Given the description of an element on the screen output the (x, y) to click on. 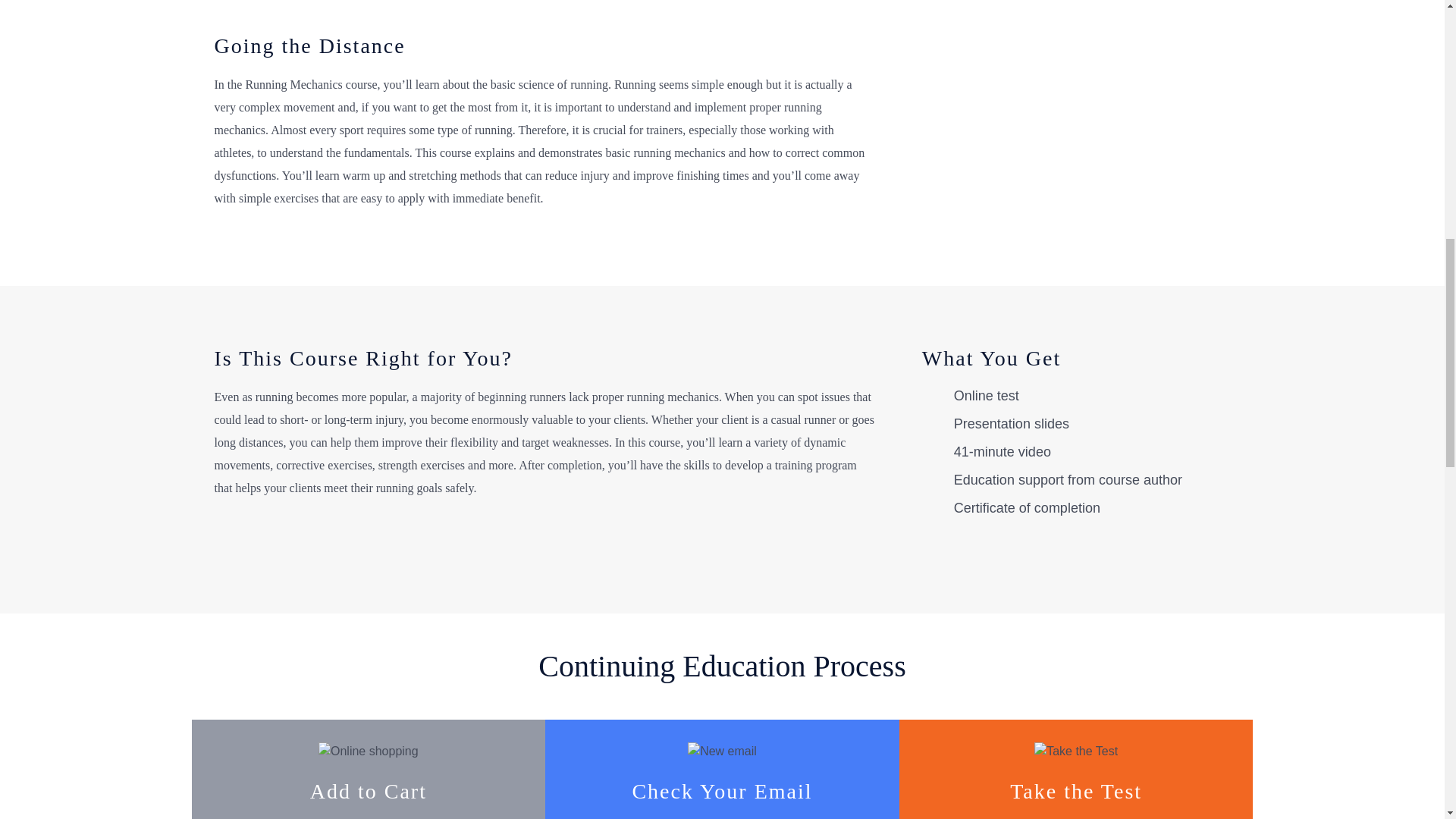
Running Mechanics 2 (368, 751)
Running Mechanics 3 (722, 751)
Running Mechanics 4 (1075, 751)
